Given the description of an element on the screen output the (x, y) to click on. 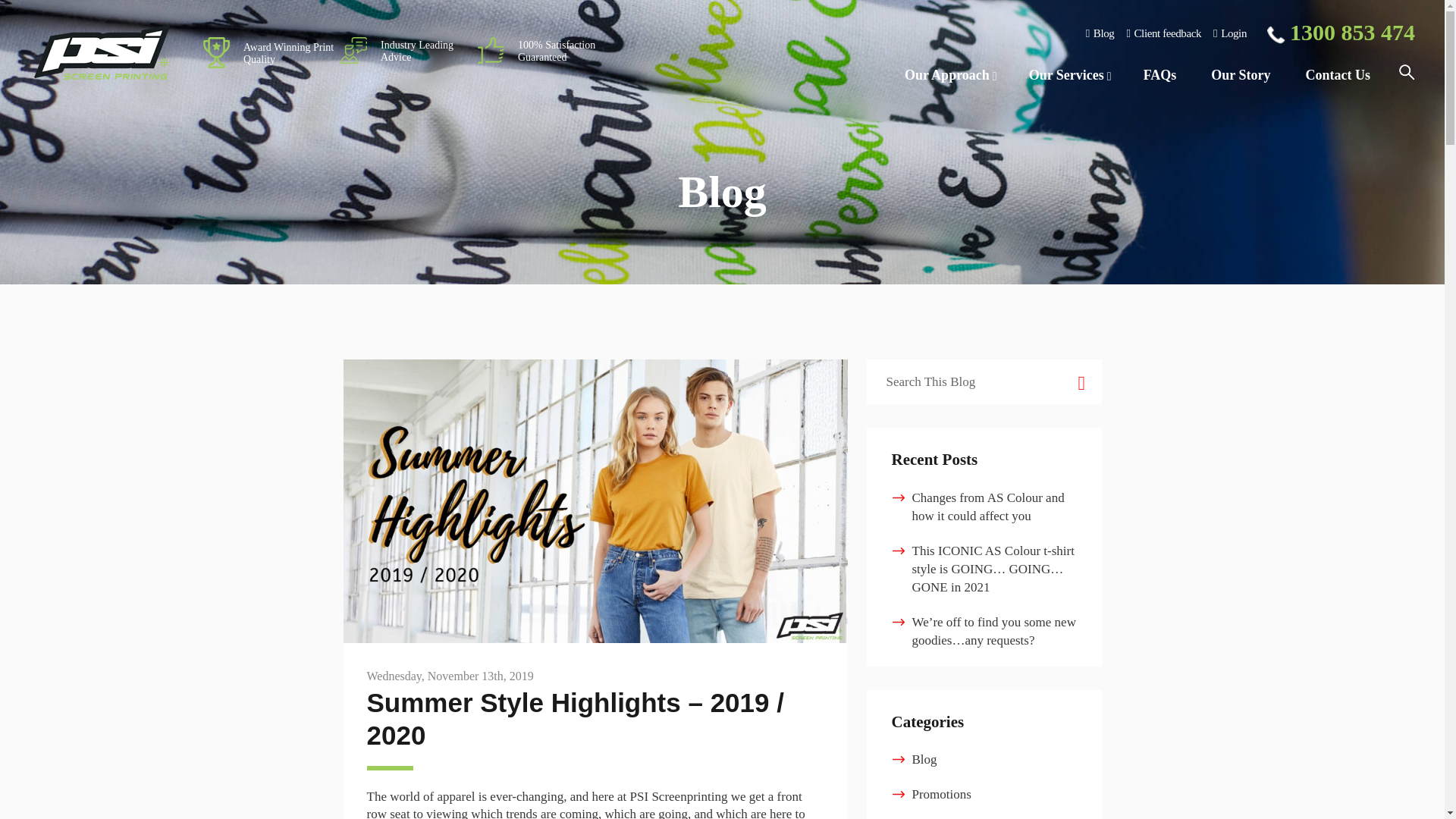
Login (1229, 33)
1300 853 474 (1340, 33)
Blog (1100, 33)
Changes from AS Colour and how it could affect you (987, 506)
Our Approach (948, 75)
Our Services (1068, 75)
SEARCH (1080, 381)
Our Services (1068, 75)
Login (1229, 33)
FAQs (1159, 75)
Blog (1100, 33)
Contact Us (1337, 75)
Promotions (941, 794)
Our Approach (948, 75)
Our Story (1240, 75)
